Given the description of an element on the screen output the (x, y) to click on. 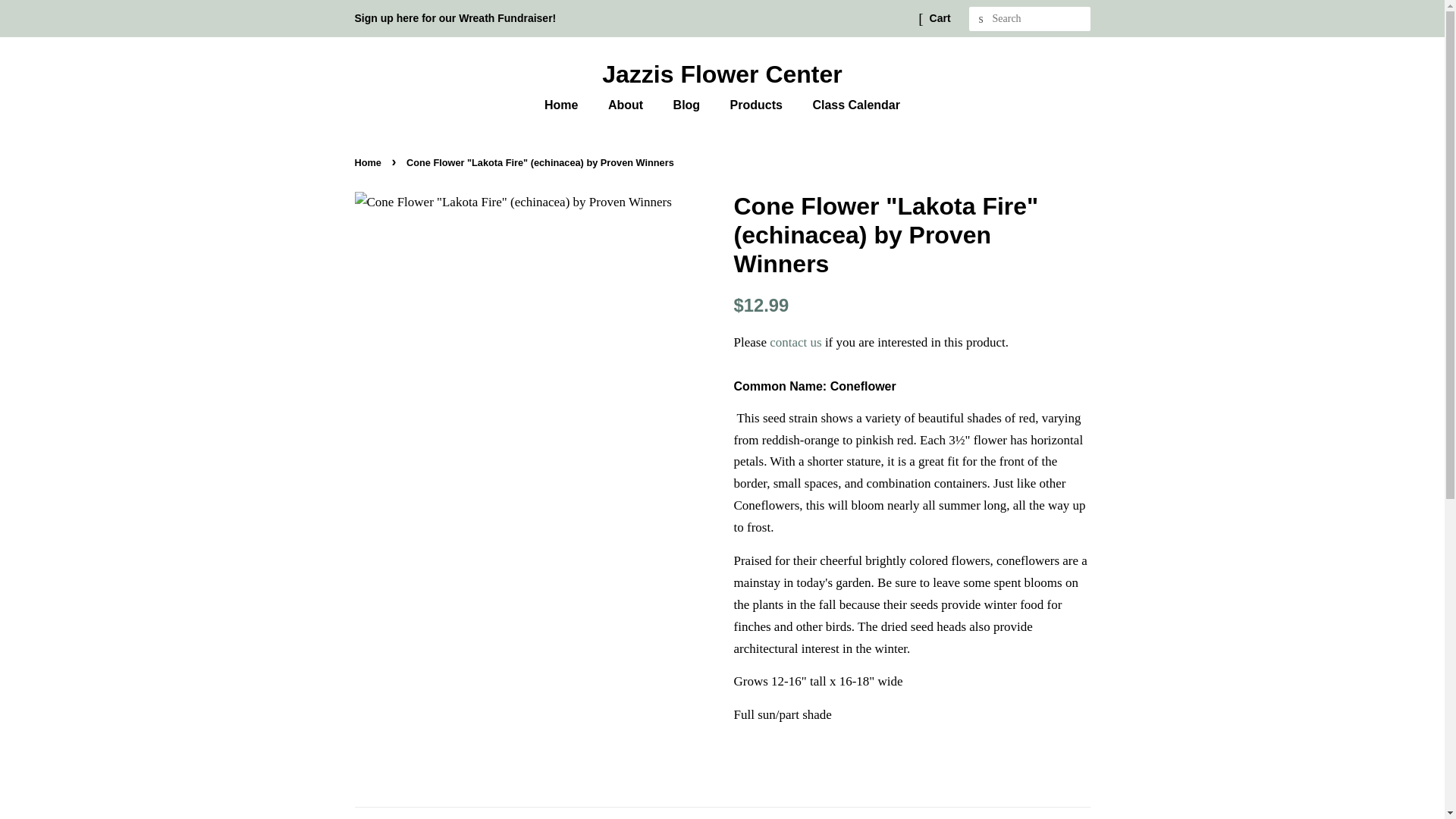
Search (980, 18)
Sign up here for our Wreath Fundraiser! (455, 18)
Jazzis Flower Center (722, 73)
Back to the frontpage (370, 162)
contact us (795, 341)
Cart (940, 18)
About (627, 104)
Home (568, 104)
Products (758, 104)
Class Calendar (849, 104)
